Given the description of an element on the screen output the (x, y) to click on. 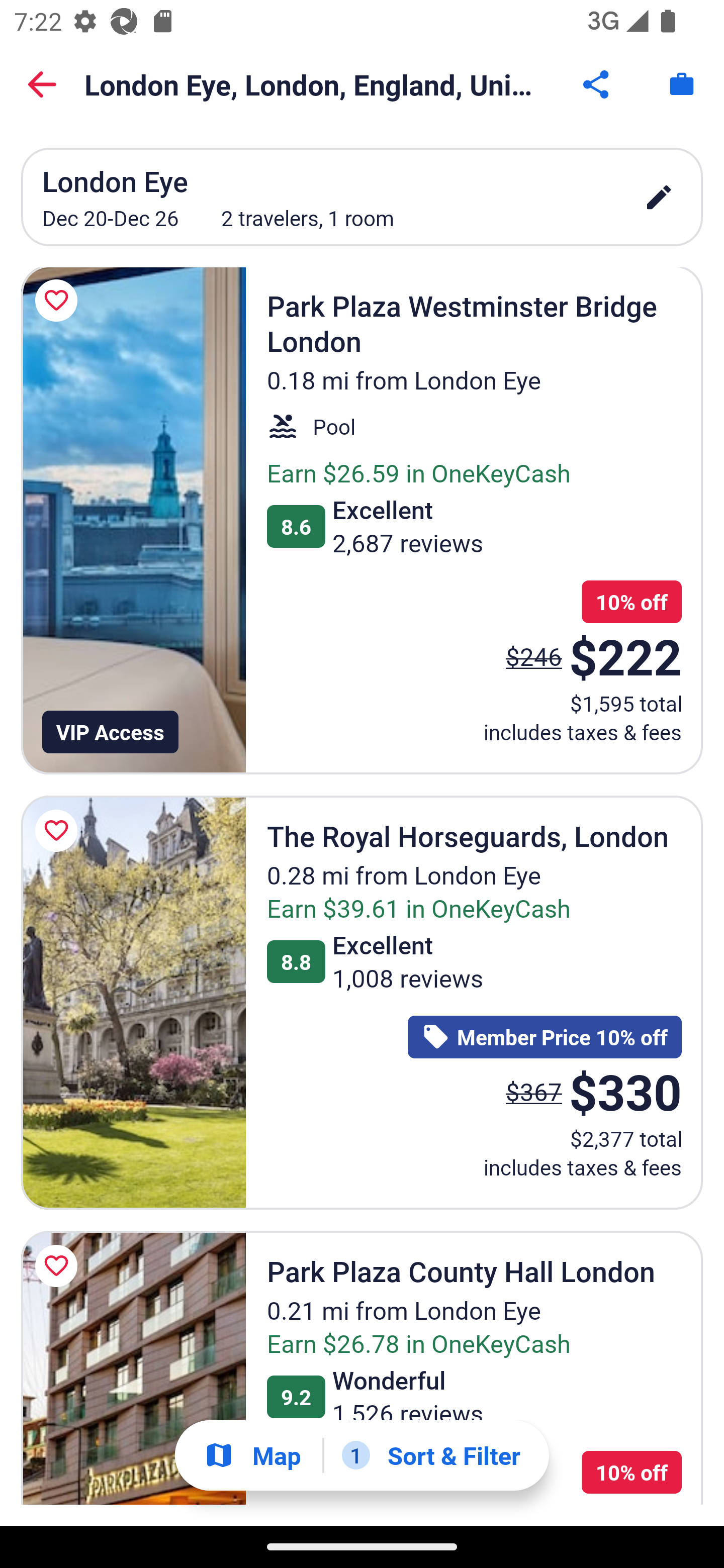
Back (42, 84)
Share Button (597, 84)
Trips. Button (681, 84)
London Eye Dec 20-Dec 26 2 travelers, 1 room edit (361, 196)
Park Plaza Westminster Bridge London (133, 521)
$246 The price was $246 (533, 656)
Save The Royal Horseguards, London to a trip (59, 830)
The Royal Horseguards, London (133, 1001)
$367 The price was $367 (533, 1090)
Save Park Plaza County Hall London to a trip (59, 1265)
Park Plaza County Hall London (133, 1367)
1 Sort & Filter 1 Filter applied. Filters Button (430, 1455)
Show map Map Show map Button (252, 1455)
